Given the description of an element on the screen output the (x, y) to click on. 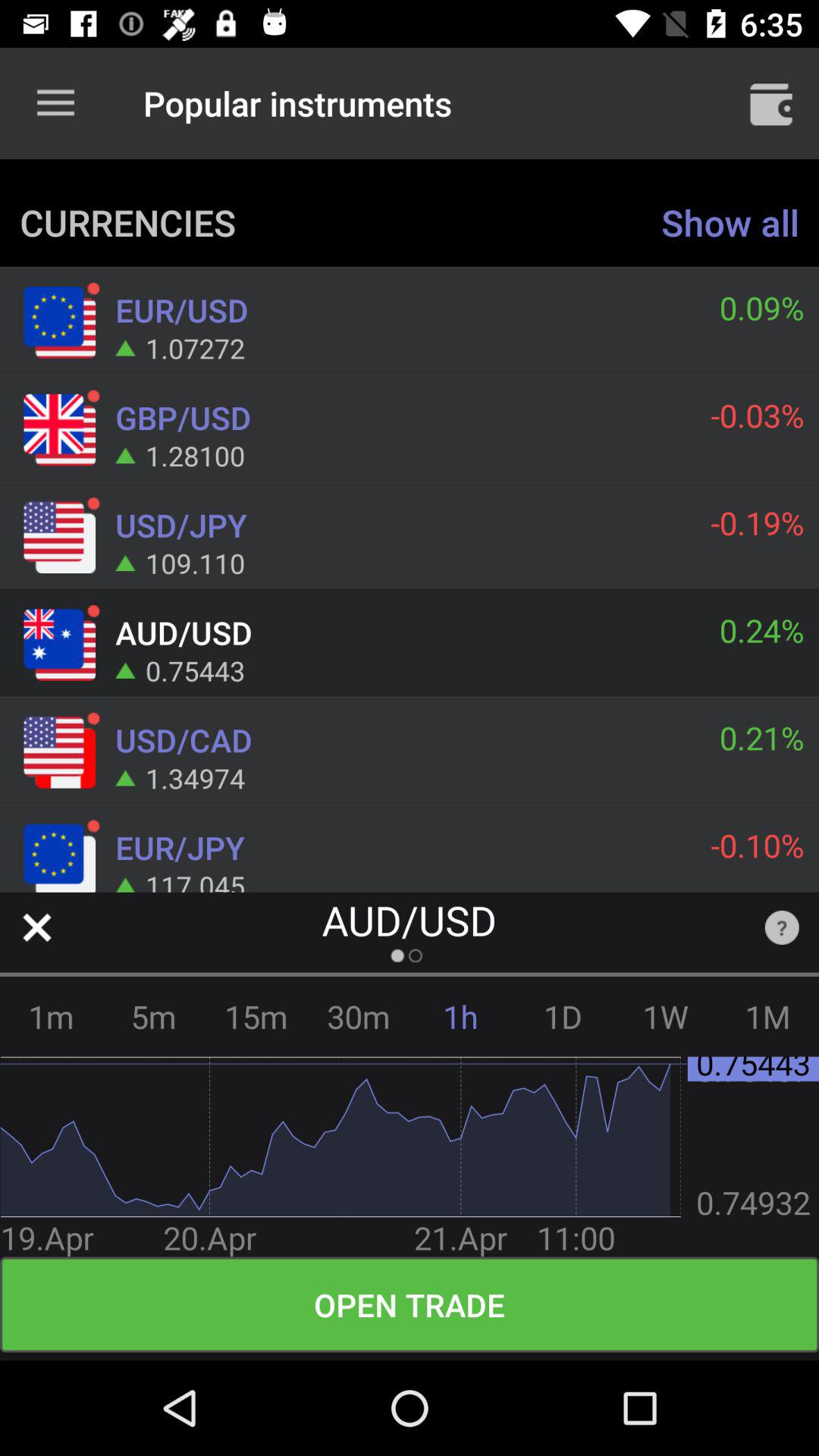
open the icon next to the currencies (730, 222)
